Given the description of an element on the screen output the (x, y) to click on. 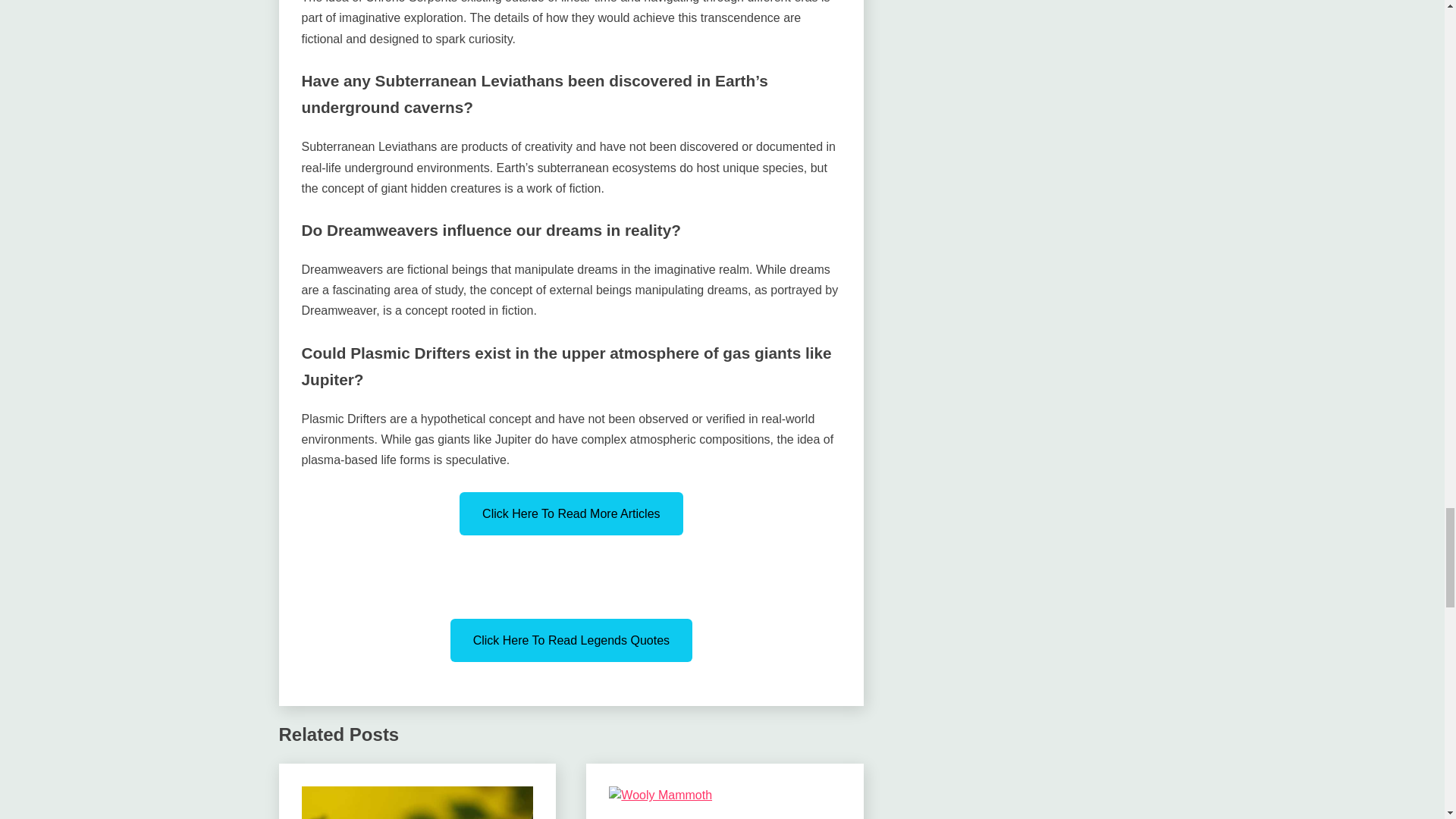
Click Here To Read Legends Quotes (571, 640)
Click Here To Read More Articles (571, 513)
